Given the description of an element on the screen output the (x, y) to click on. 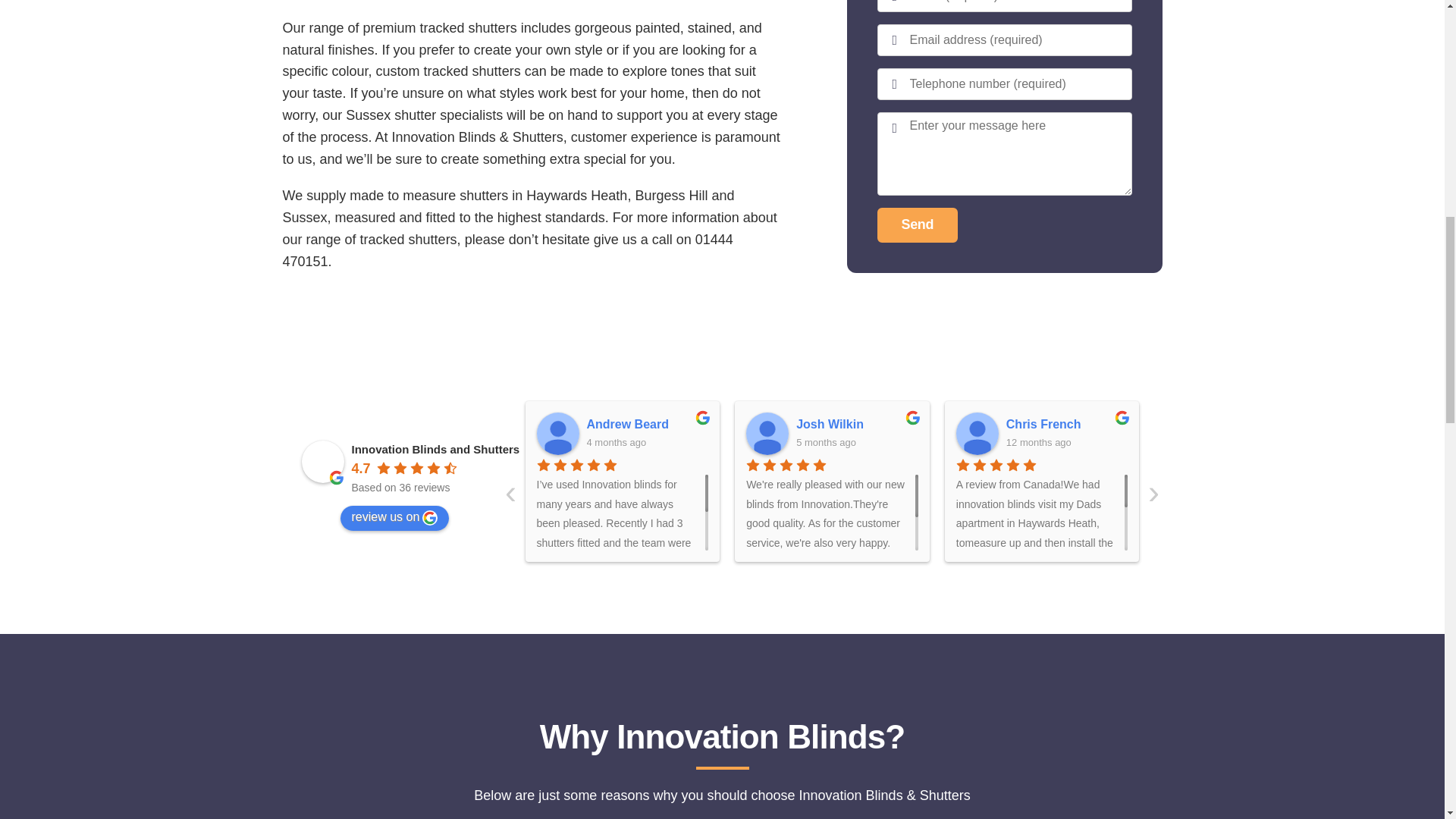
Innovation Blinds and Shutters (322, 461)
Andrew Beard (558, 433)
S (1187, 433)
Josh Wilkin (767, 433)
Send (917, 163)
Andrew Beard (647, 424)
Chris French (977, 433)
Josh Wilkin (857, 424)
Pamela Maclenan (1396, 433)
S (1276, 424)
Chris French (1067, 424)
